Given the description of an element on the screen output the (x, y) to click on. 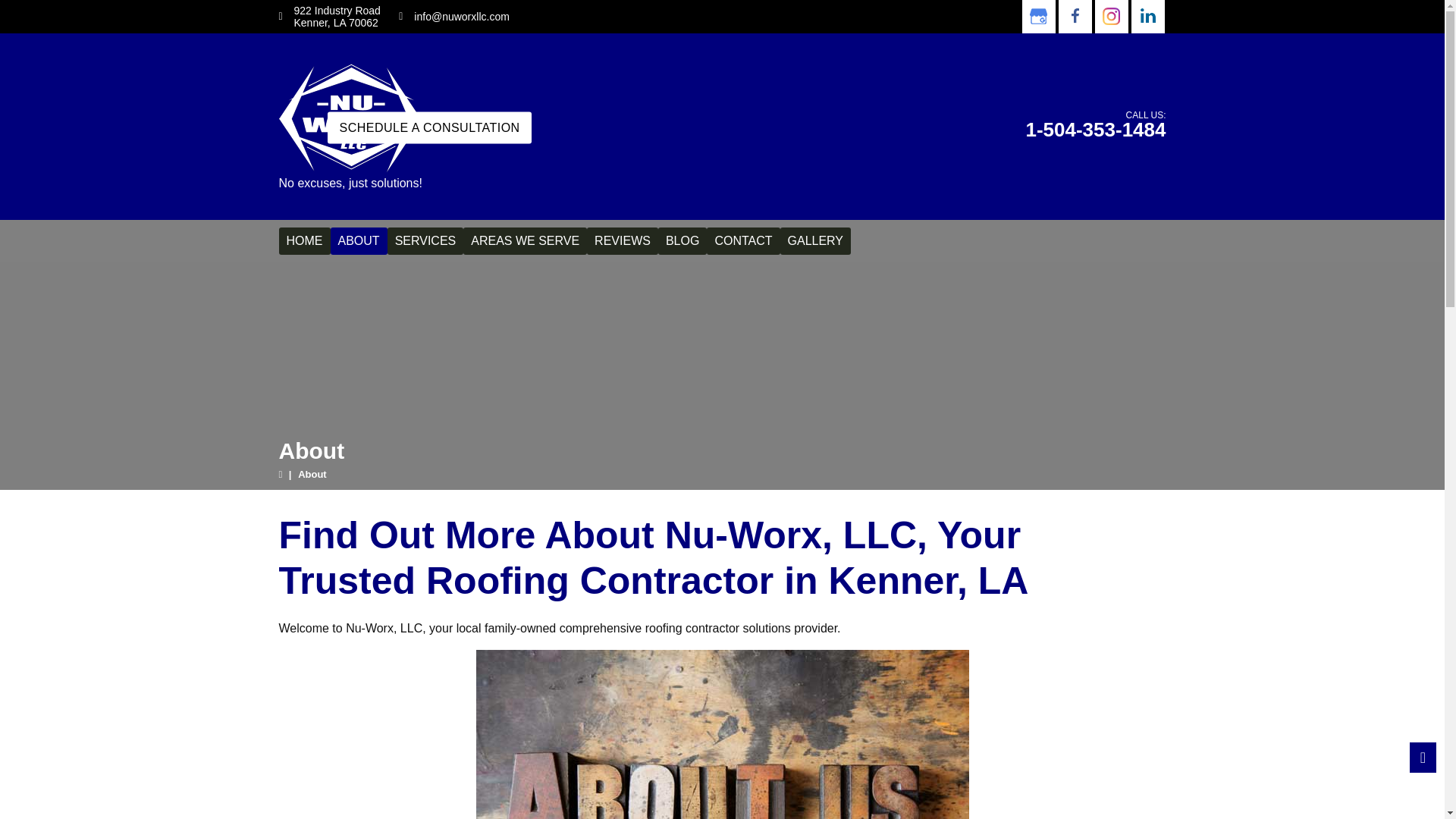
Facebook (1074, 16)
Nu-Worx LLC (350, 116)
LinkedIn (1146, 16)
SERVICES (425, 240)
Instagram (1110, 16)
ABOUT (358, 240)
HOME (304, 240)
Google Business Profile (1037, 16)
SCHEDULE A CONSULTATION (429, 128)
